Given the description of an element on the screen output the (x, y) to click on. 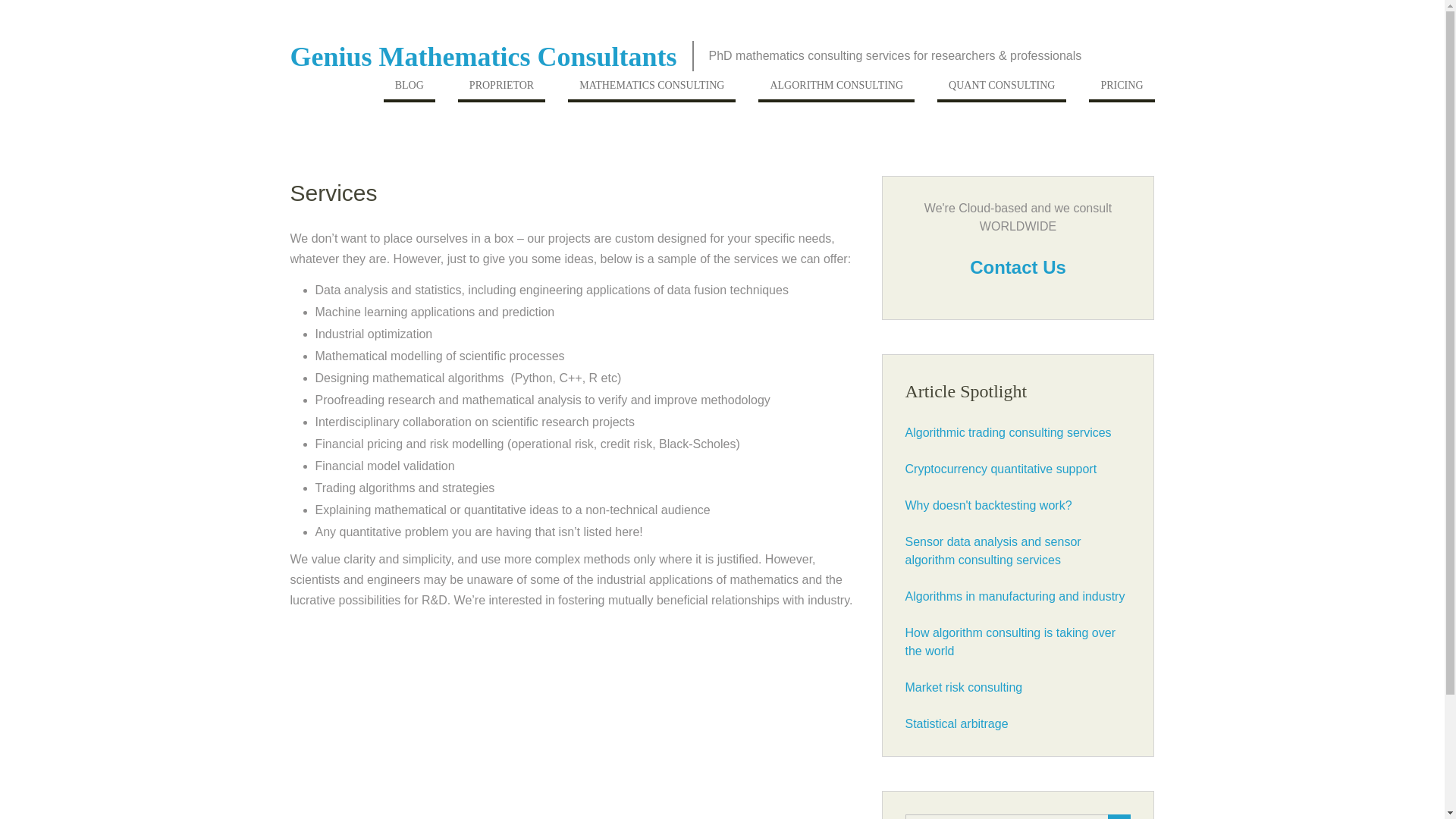
Why doesn't backtesting work? (988, 504)
ALGORITHM CONSULTING (836, 88)
Algorithmic trading consulting services (1008, 431)
Genius Mathematics Consultants (483, 56)
PRICING (1121, 88)
Algorithms in manufacturing and industry (1015, 595)
QUANT CONSULTING (1001, 88)
Market risk consulting (964, 686)
MATHEMATICS CONSULTING (651, 88)
How algorithm consulting is taking over the world (1010, 641)
PROPRIETOR (501, 88)
Cryptocurrency quantitative support (1001, 468)
BLOG (409, 88)
Statistical arbitrage (957, 723)
